Given the description of an element on the screen output the (x, y) to click on. 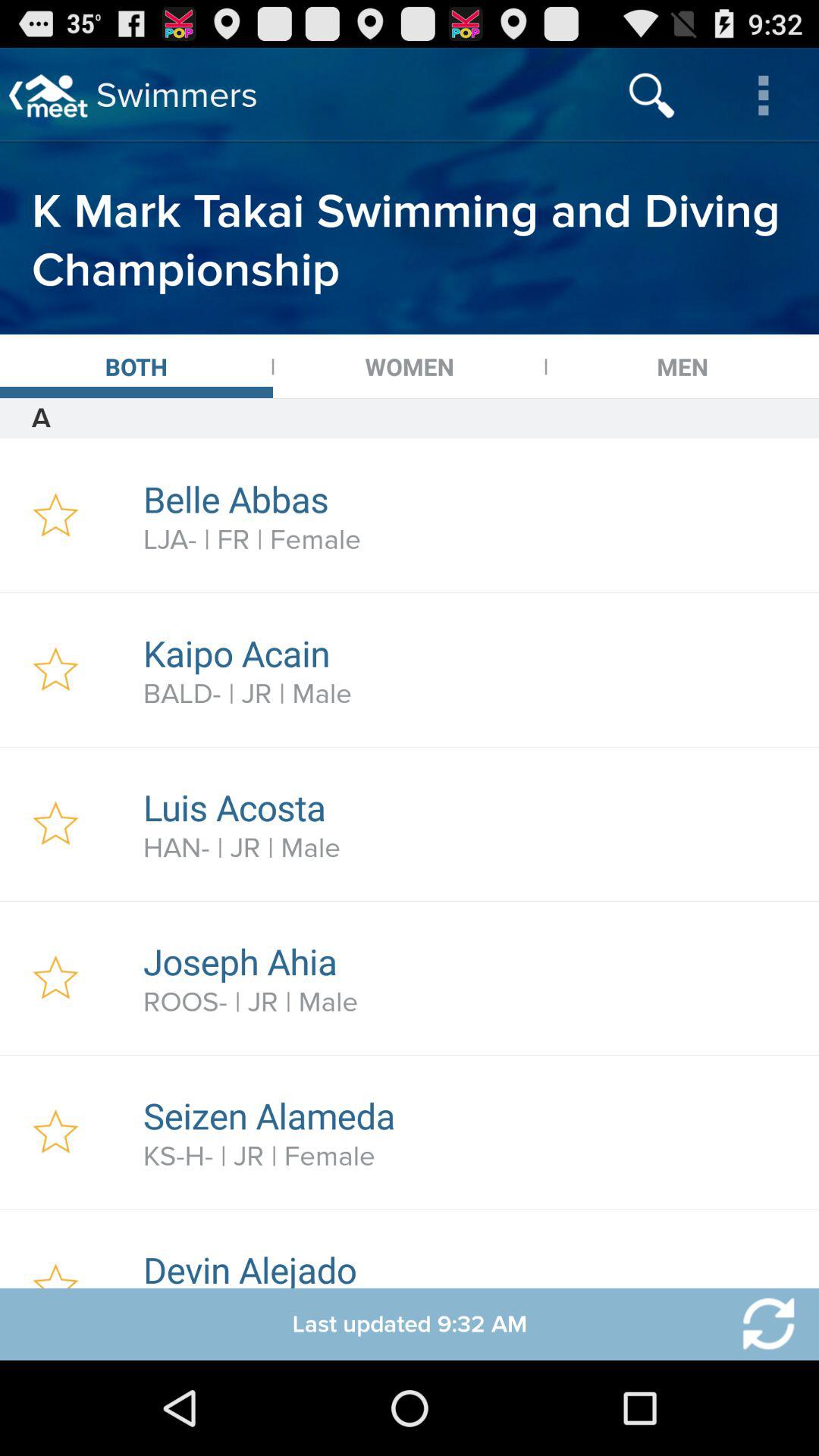
adds the element to favorites (55, 1132)
